Given the description of an element on the screen output the (x, y) to click on. 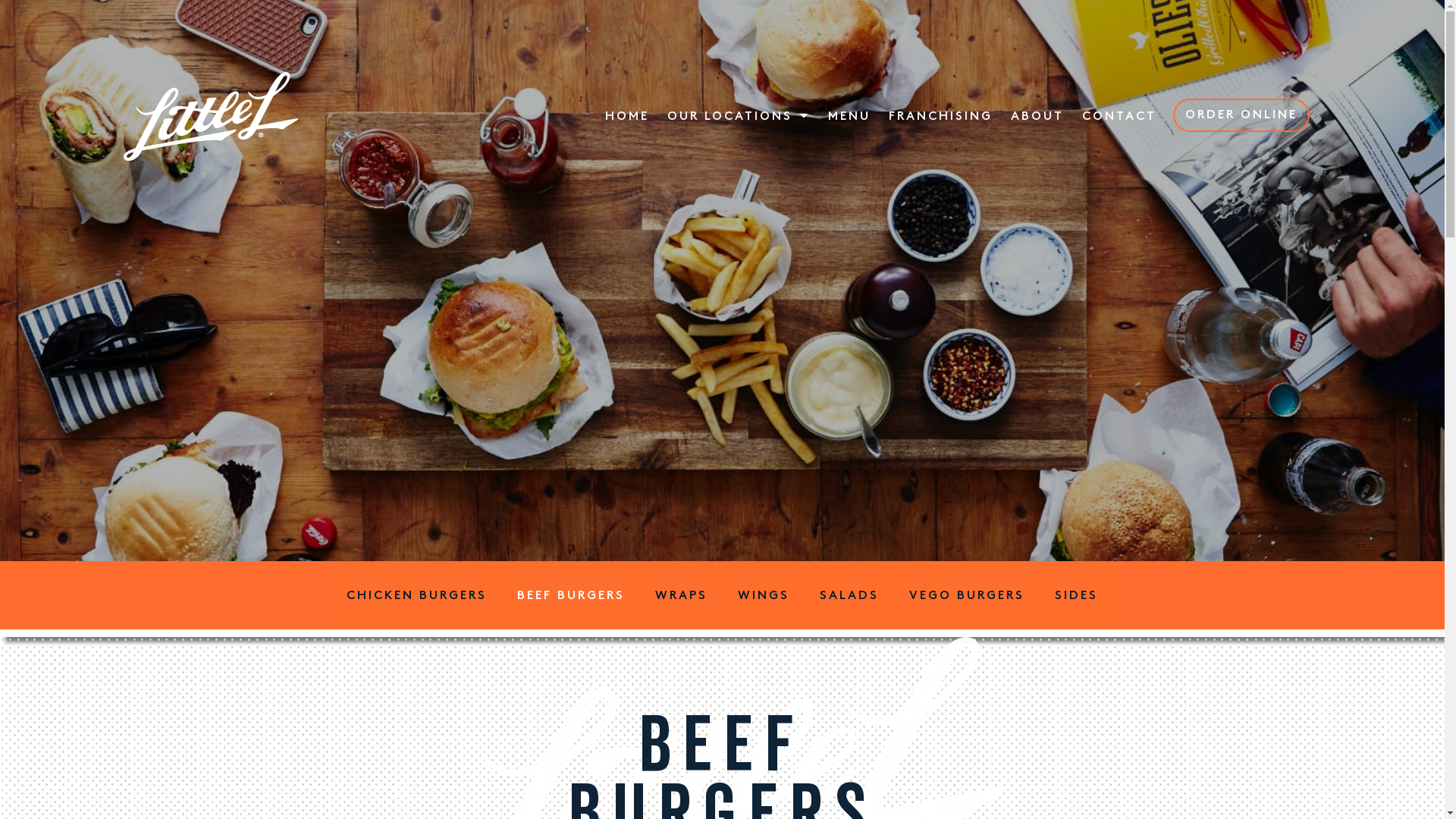
SALADS Element type: text (849, 595)
ABOUT Element type: text (1037, 115)
FRANCHISING Element type: text (940, 115)
CONTACT Element type: text (1119, 115)
WINGS Element type: text (763, 595)
HOME Element type: text (627, 115)
CHICKEN BURGERS Element type: text (416, 595)
OUR LOCATIONS Element type: text (738, 115)
ORDER ONLINE Element type: text (1241, 114)
WRAPS Element type: text (681, 595)
MENU Element type: text (849, 115)
BEEF BURGERS Element type: text (571, 595)
VEGO BURGERS Element type: text (966, 595)
SIDES Element type: text (1076, 595)
